Given the description of an element on the screen output the (x, y) to click on. 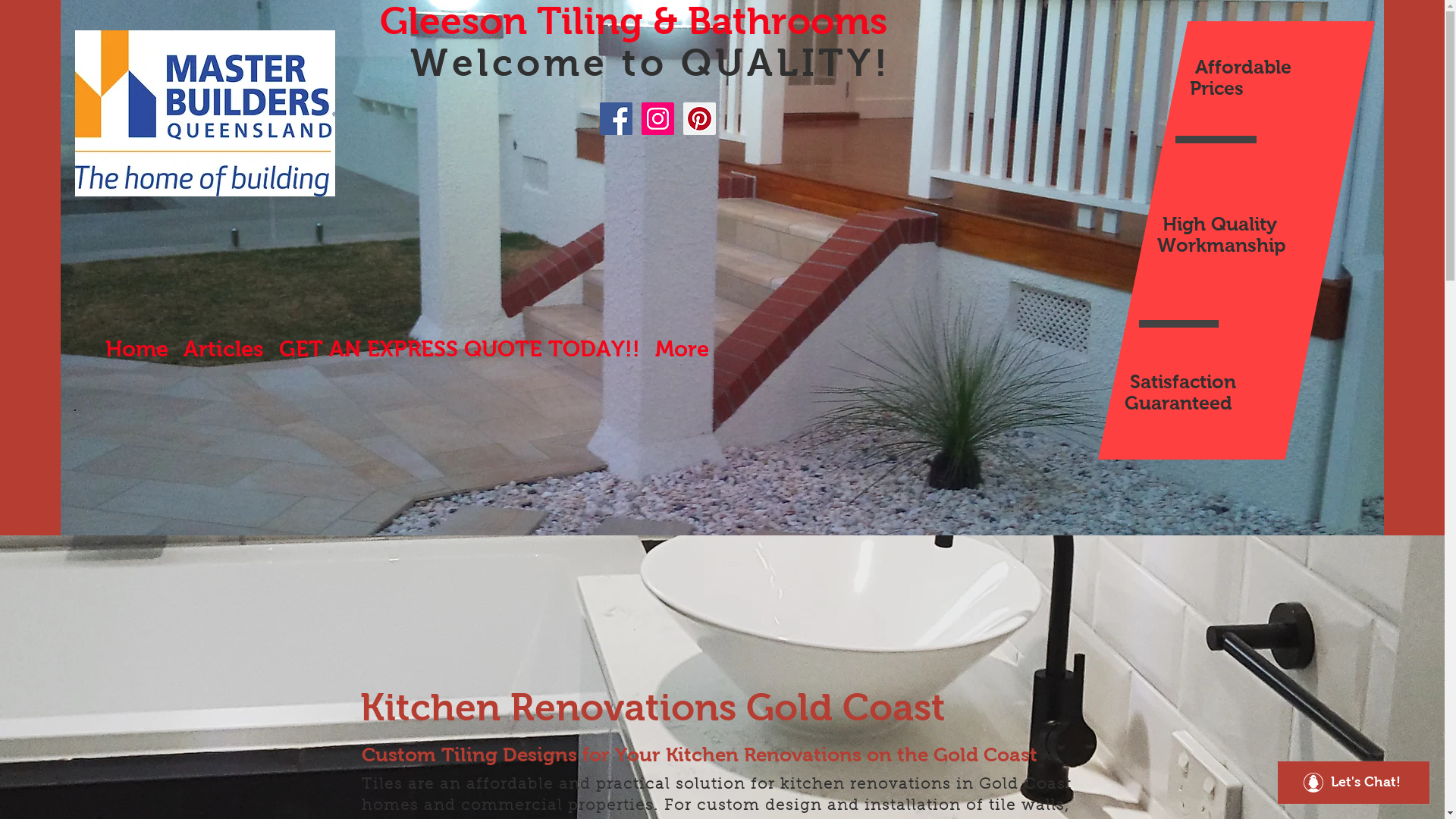
Home Element type: text (136, 348)
GET AN EXPRESS QUOTE TODAY!! Element type: text (459, 348)
Articles Element type: text (223, 348)
Gleeson Tiling & Bathrooms    Element type: text (638, 41)
